Given the description of an element on the screen output the (x, y) to click on. 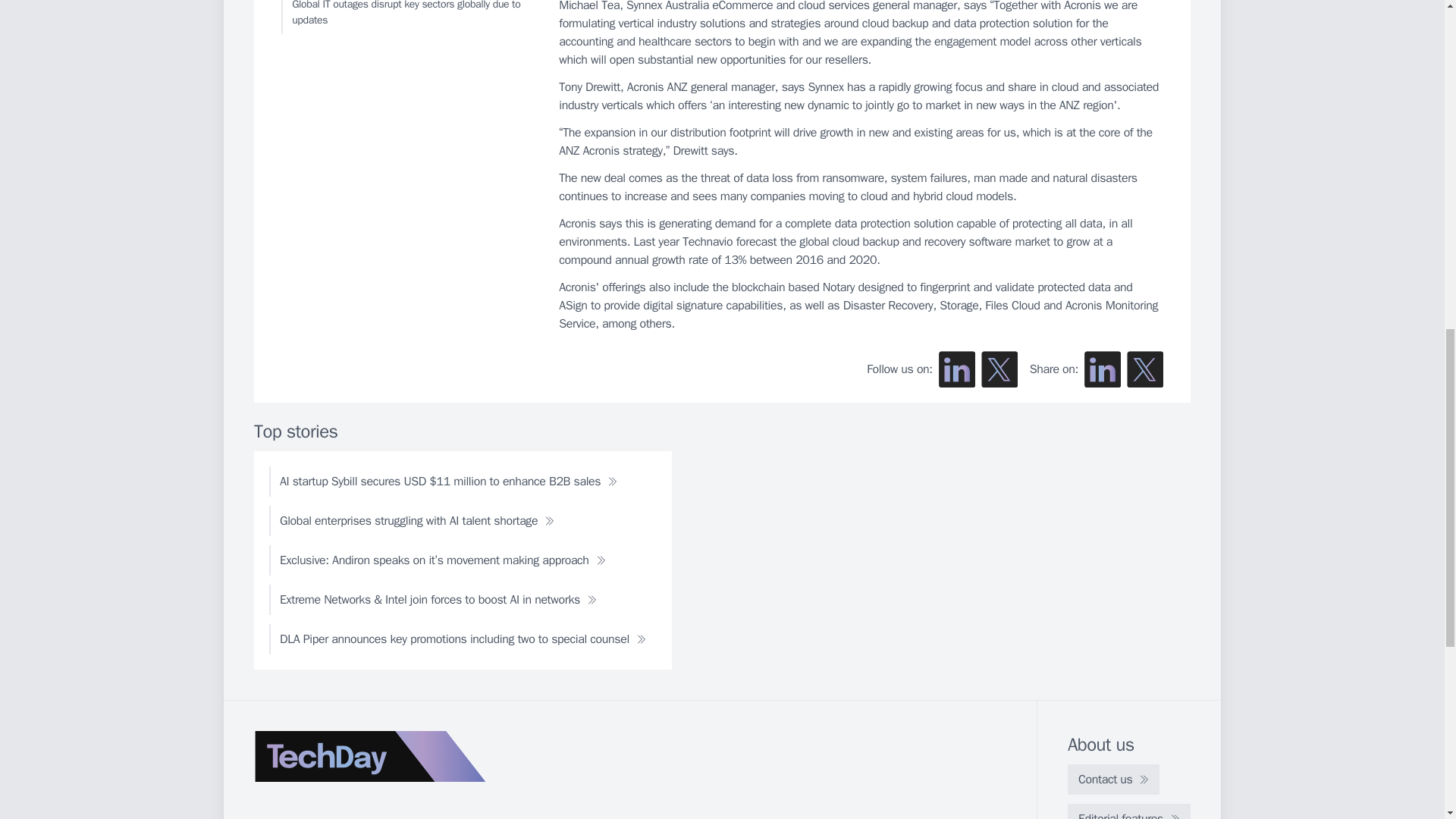
Global enterprises struggling with AI talent shortage (416, 521)
